Given the description of an element on the screen output the (x, y) to click on. 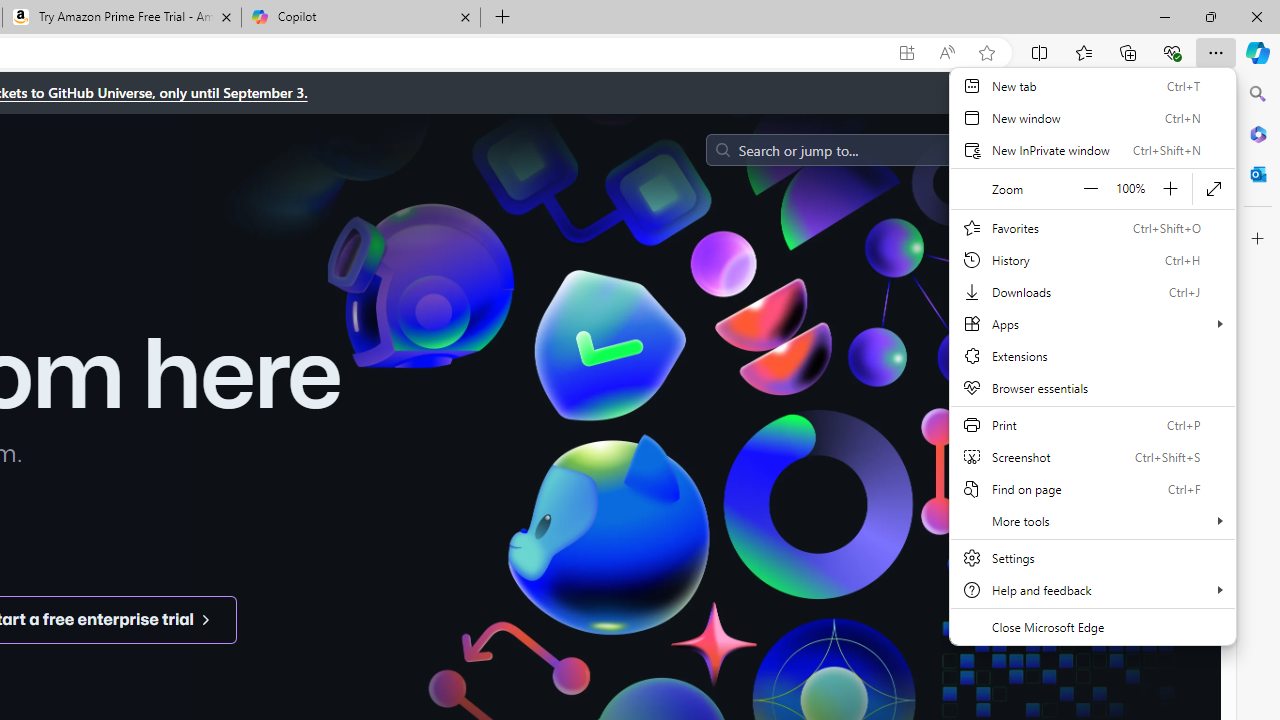
Print (1092, 424)
Zoom out (Ctrl+Minus key) (1091, 188)
History (1092, 259)
Apps (1092, 323)
Screenshot (1092, 456)
